Given the description of an element on the screen output the (x, y) to click on. 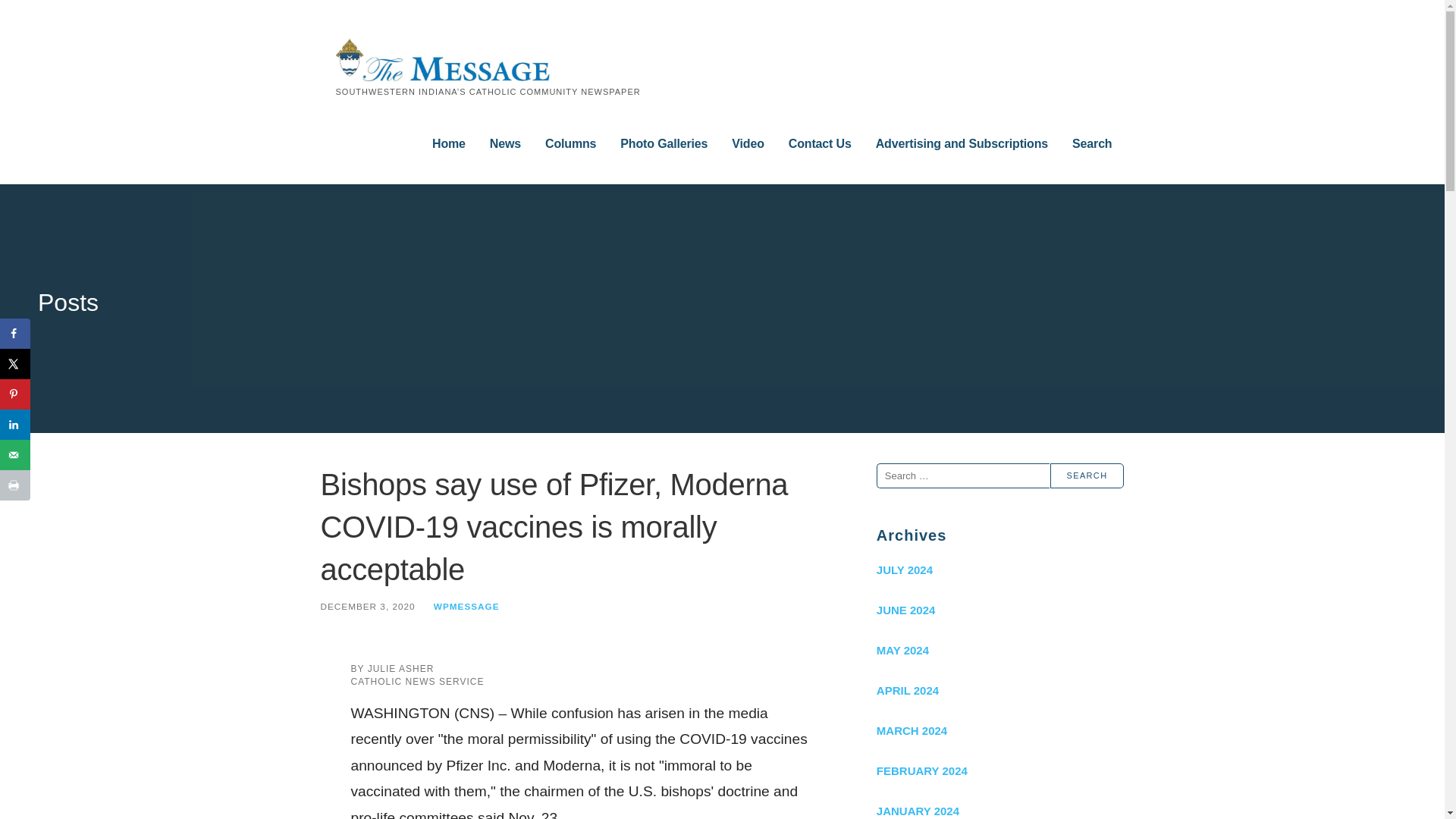
Send over email (15, 454)
Posts by wpmessage (466, 605)
Share on LinkedIn (15, 424)
Print this webpage (15, 485)
Photo Galleries (663, 144)
Video (747, 144)
Search (1086, 475)
Columns (569, 144)
Search (1091, 144)
WPMESSAGE (466, 605)
